Given the description of an element on the screen output the (x, y) to click on. 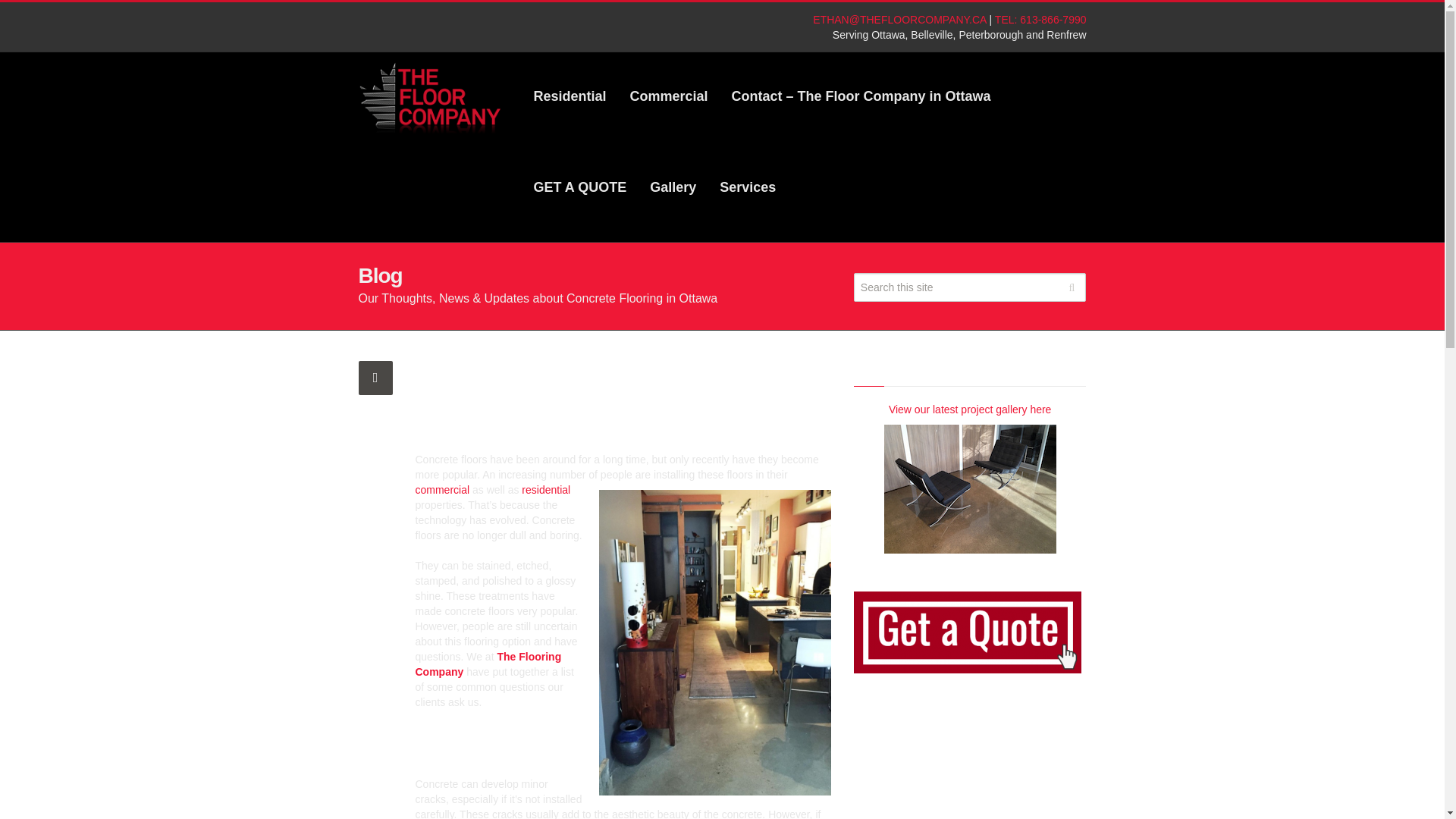
Residential (569, 104)
Gallery (673, 195)
GET A QUOTE (579, 195)
Search this site (969, 287)
Imagine your man-cave (569, 104)
Search this site (969, 287)
Common Questions about Concrete Floors ANSWERED (714, 642)
commercial (442, 490)
Commercial (668, 104)
Services (741, 195)
Engineered to perform (668, 104)
TEL: 613-866-7990 (1040, 19)
residential (545, 490)
The Flooring Company (488, 664)
